Given the description of an element on the screen output the (x, y) to click on. 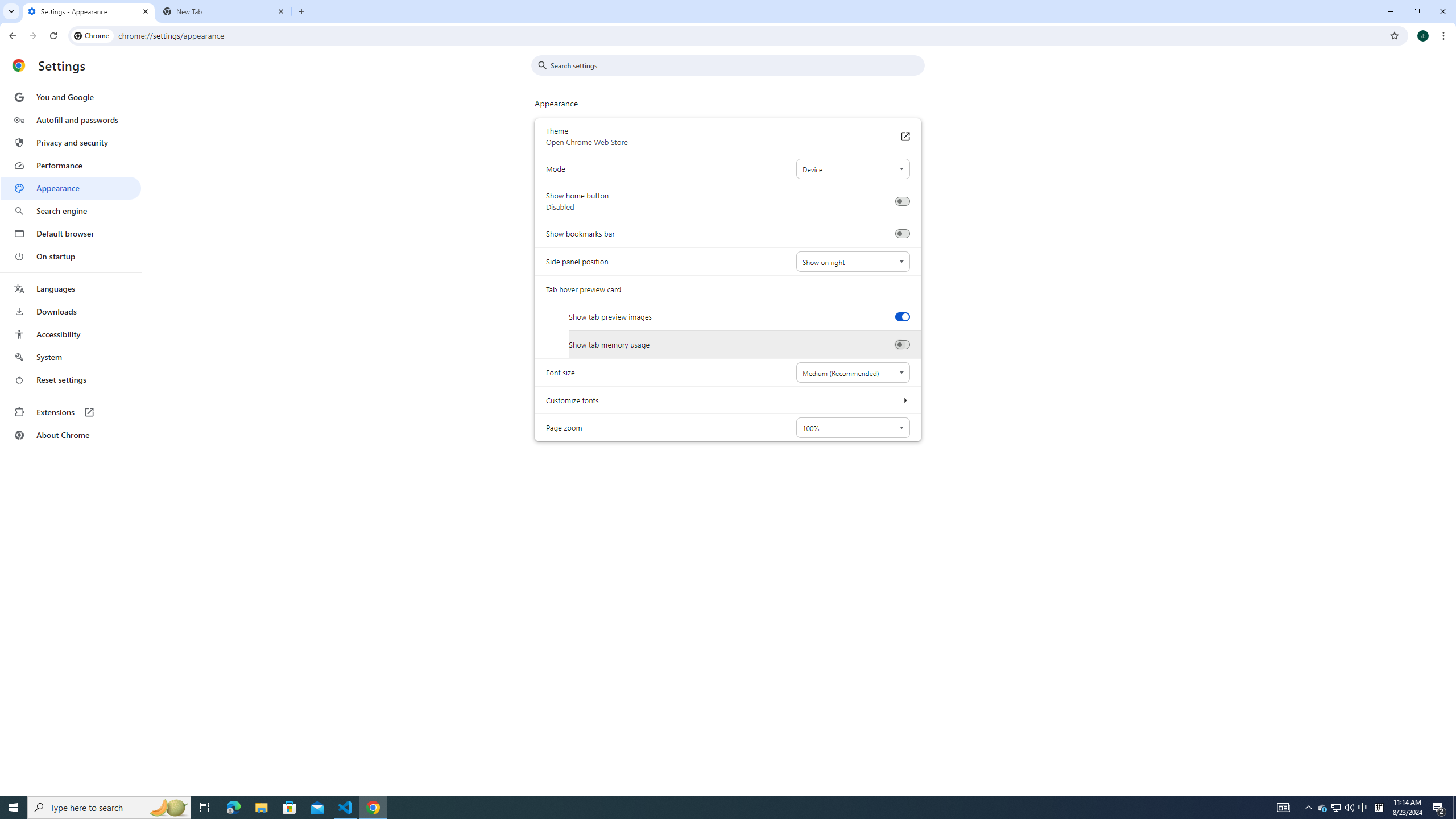
Search engine (70, 210)
New Tab (224, 11)
Downloads (70, 311)
Side panel position (852, 261)
On startup (70, 255)
Show bookmarks bar (901, 234)
Customize fonts (904, 399)
Settings - Appearance (88, 11)
Autofill and passwords (70, 119)
Extensions (70, 412)
Page zoom (852, 427)
